Given the description of an element on the screen output the (x, y) to click on. 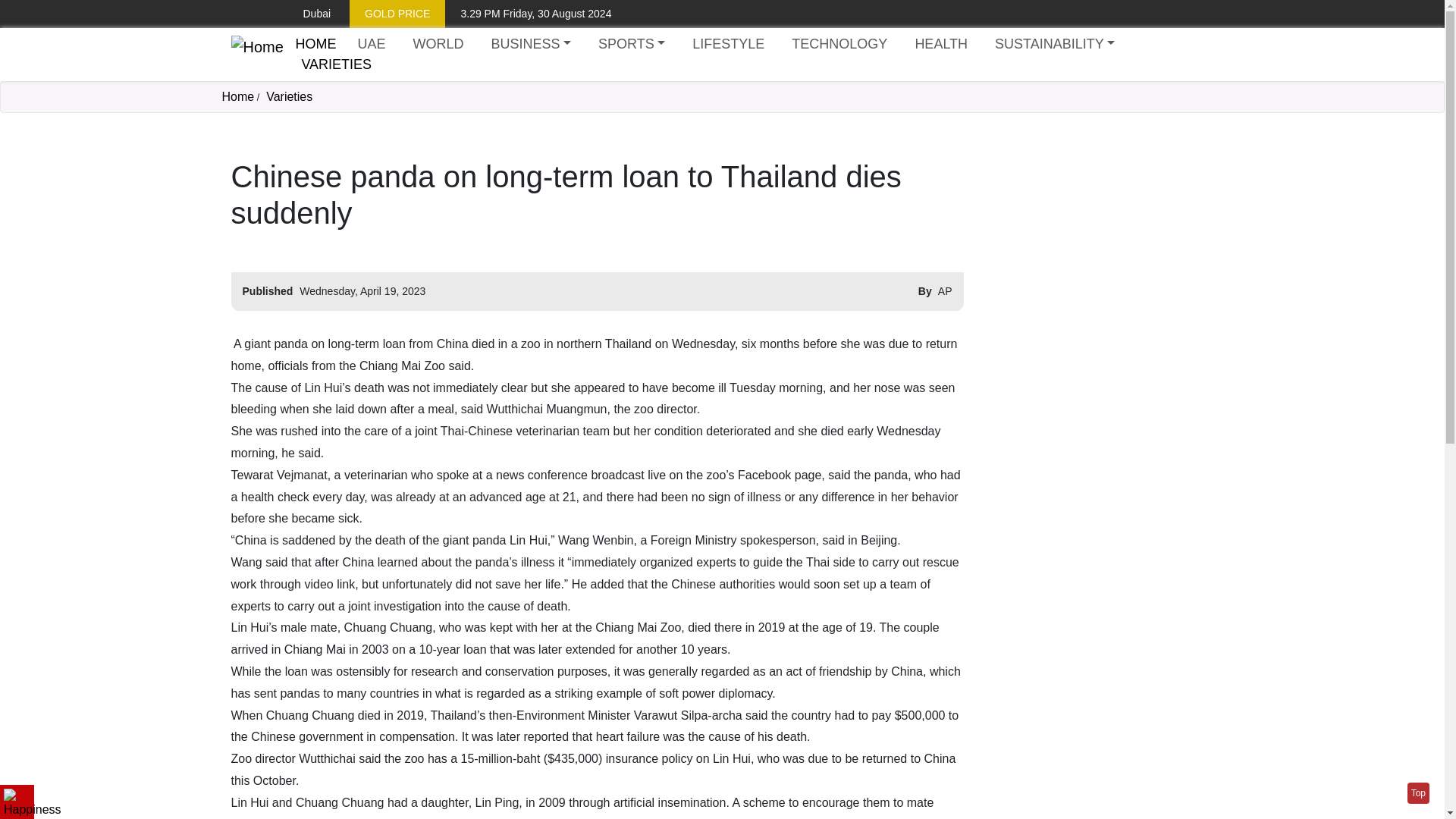
SPORTS (631, 44)
Dubai (305, 13)
BUSINESS (530, 44)
Home (237, 96)
Home (315, 43)
WORLD (437, 44)
TECHNOLOGY (839, 44)
LIFESTYLE (727, 44)
VARIETIES (336, 64)
Home (256, 54)
